Given the description of an element on the screen output the (x, y) to click on. 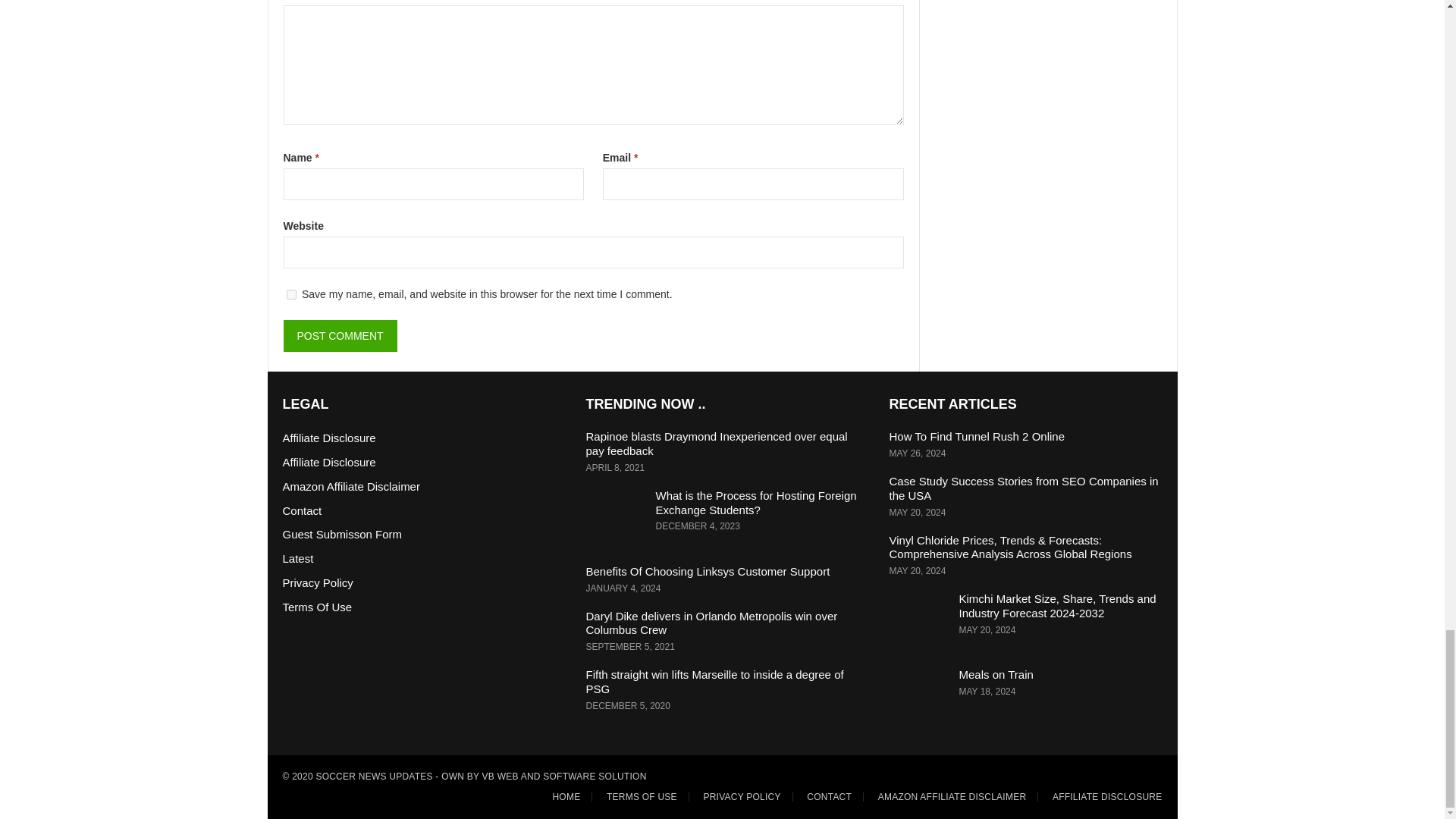
yes (291, 294)
Post Comment (340, 336)
